Given the description of an element on the screen output the (x, y) to click on. 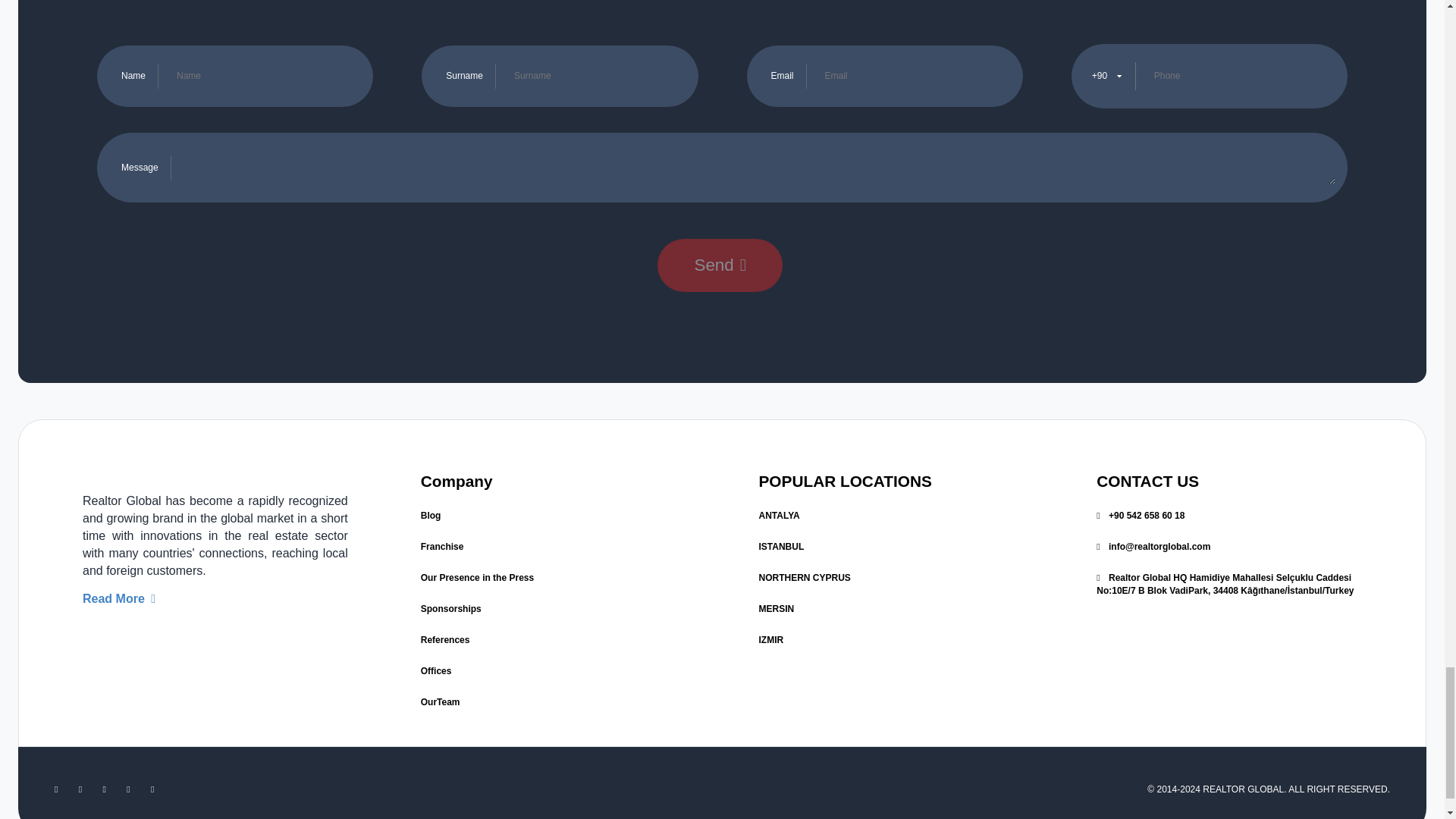
Send (719, 265)
Read More (118, 598)
Blog (430, 515)
Company (456, 480)
